Given the description of an element on the screen output the (x, y) to click on. 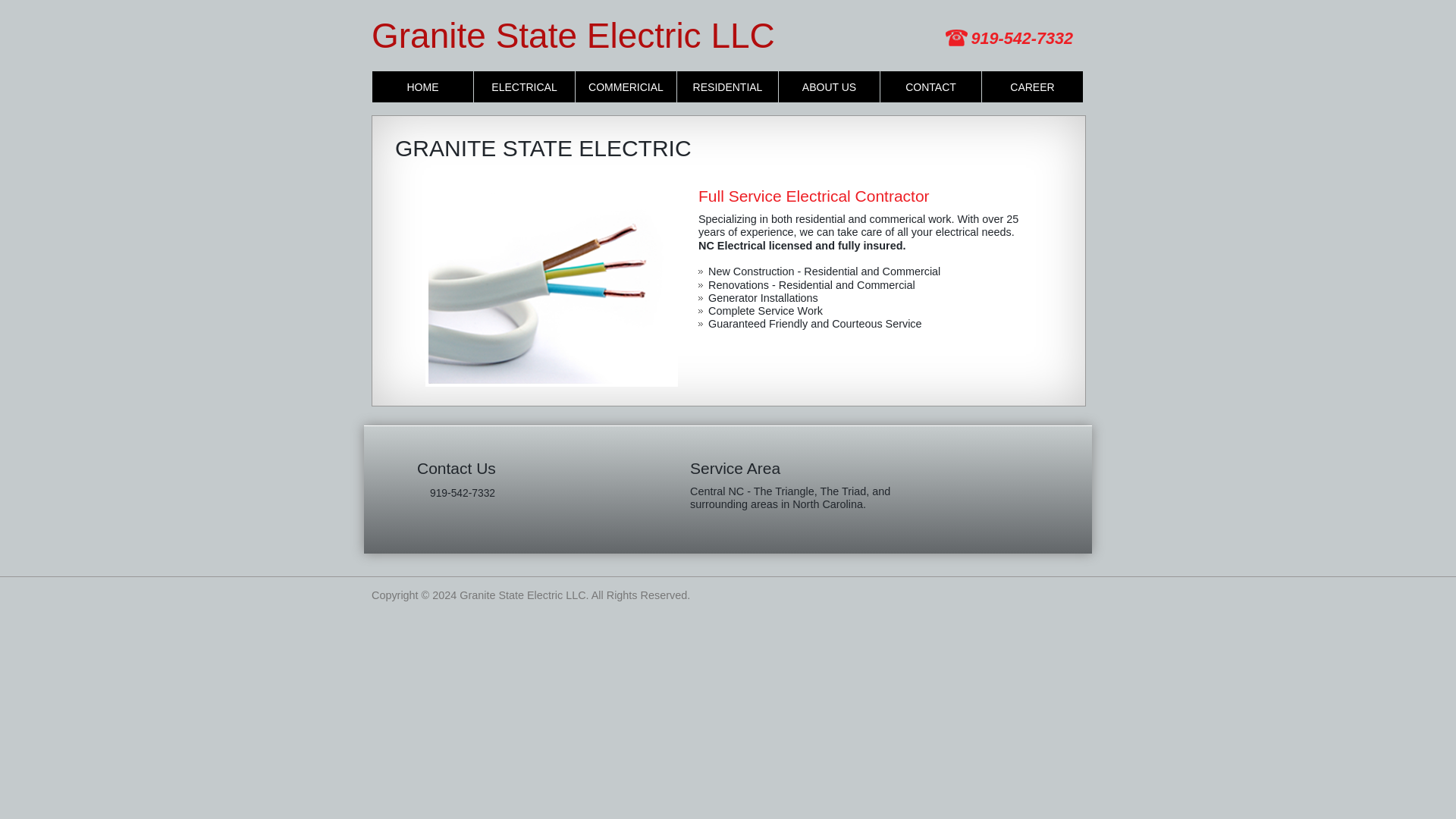
919-542-7332 (455, 493)
ELECTRICAL (524, 86)
CAREER (1032, 86)
CONTACT (930, 86)
COMMERICIAL (626, 86)
ABOUT US (828, 86)
919-542-7332 (1022, 37)
HOME (422, 86)
RESIDENTIAL (727, 86)
